Given the description of an element on the screen output the (x, y) to click on. 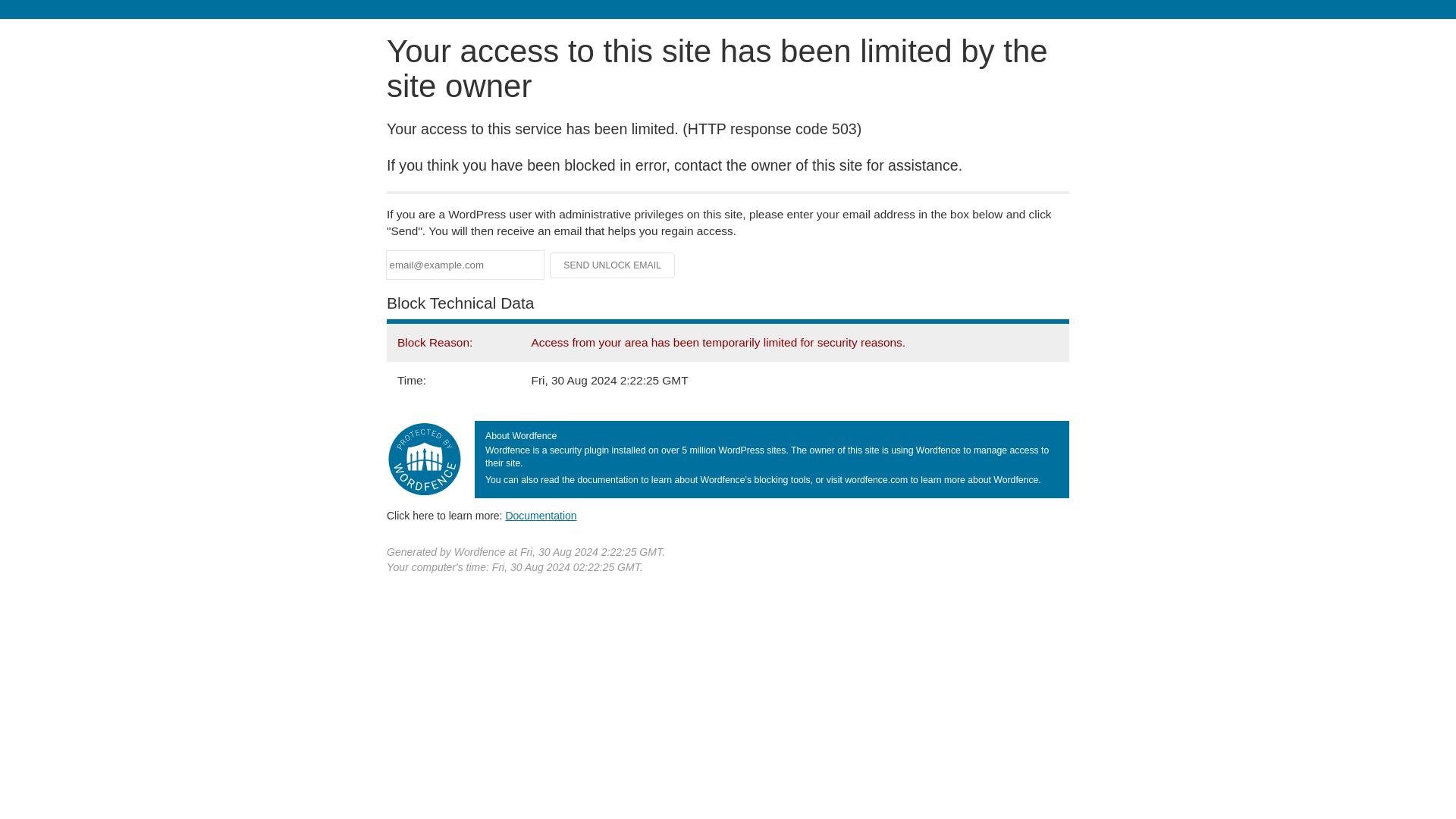
Documentation (540, 515)
Send Unlock Email (612, 265)
Send Unlock Email (612, 265)
